Given the description of an element on the screen output the (x, y) to click on. 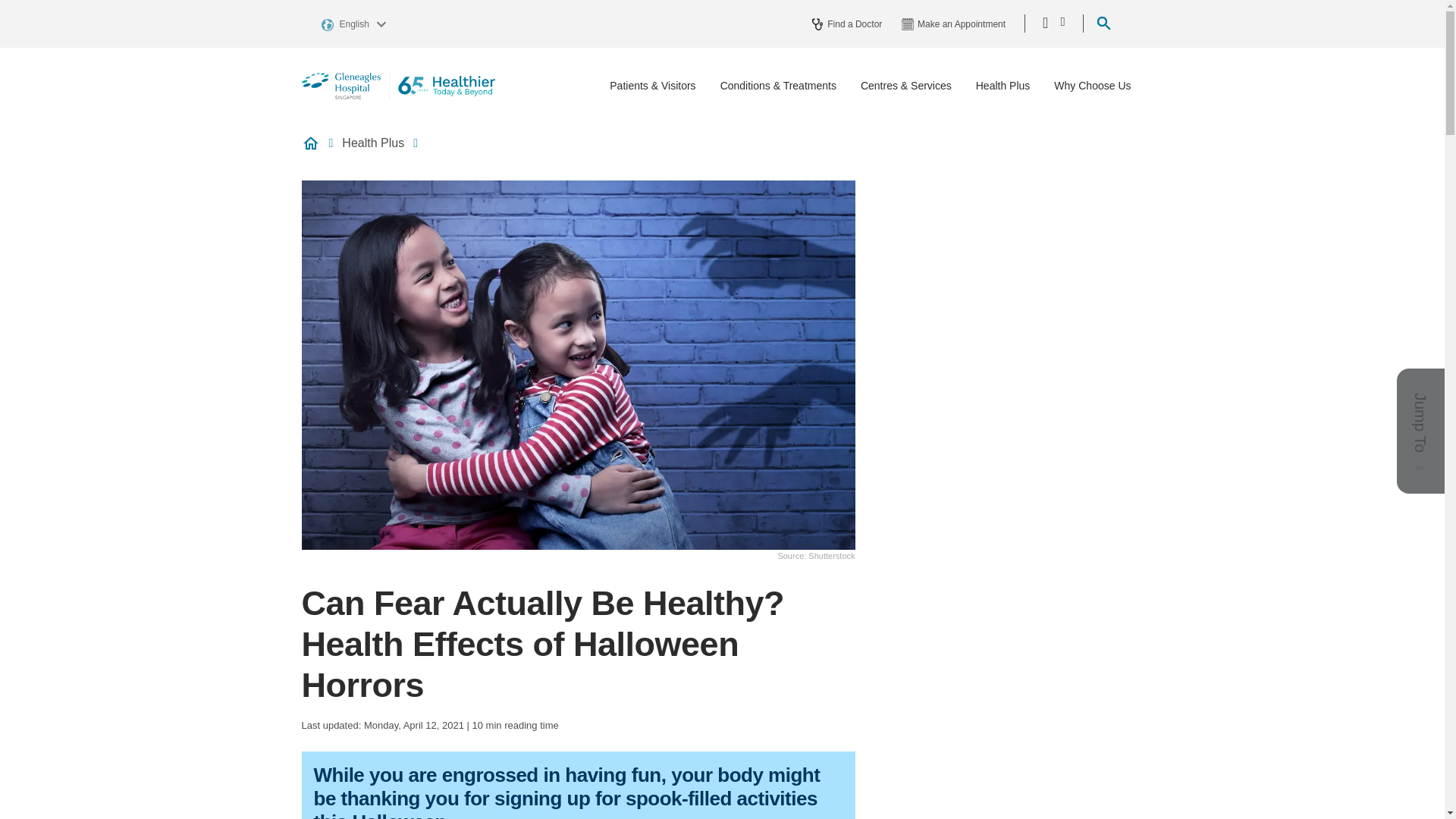
Why Choose Us (1092, 86)
Health Plus (1002, 86)
English (355, 23)
